Given the description of an element on the screen output the (x, y) to click on. 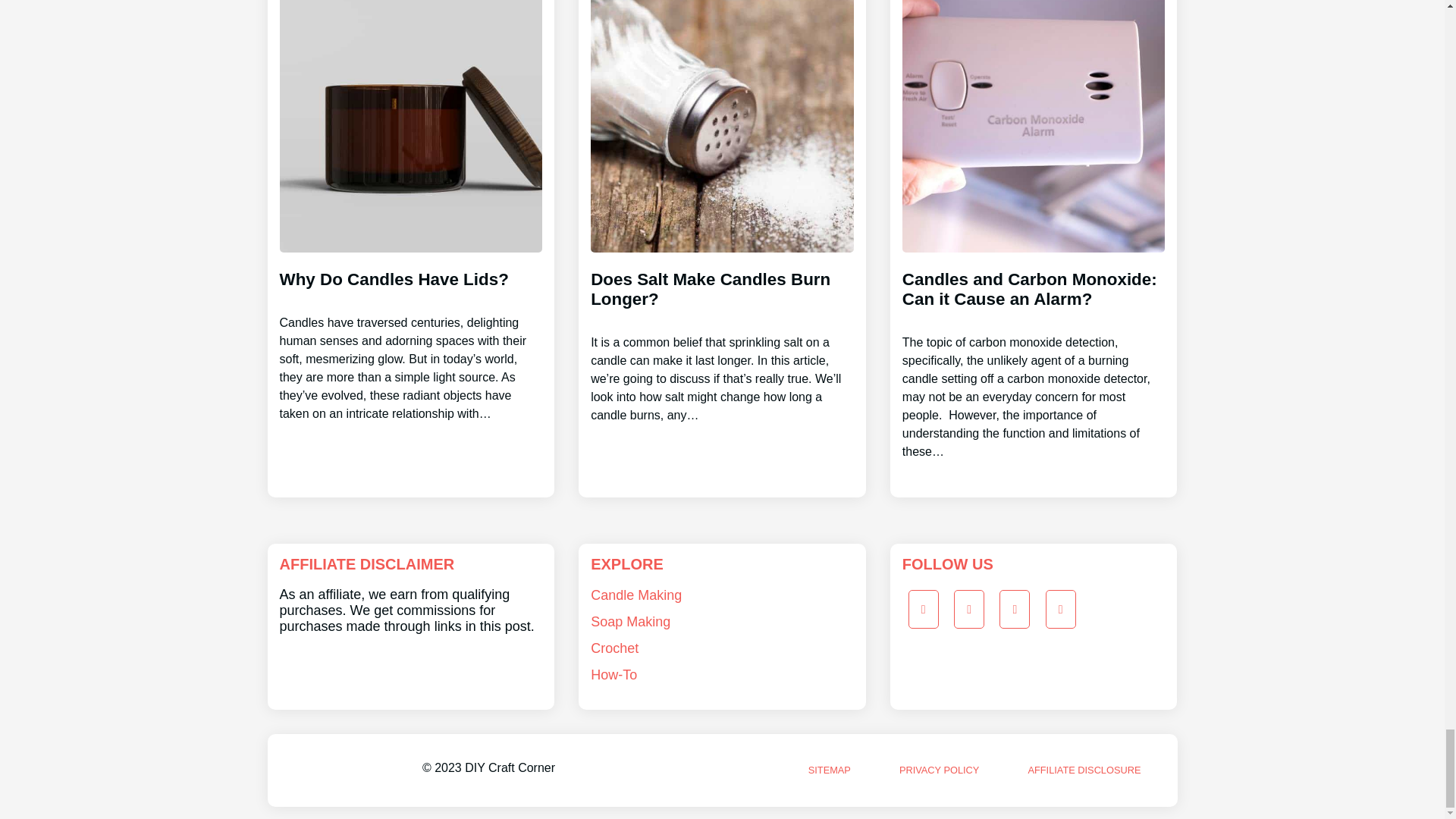
Candle Making (636, 595)
Why Do Candles Have Lids? (410, 332)
Candles and Carbon Monoxide: Can it Cause an Alarm? (1034, 351)
